Given the description of an element on the screen output the (x, y) to click on. 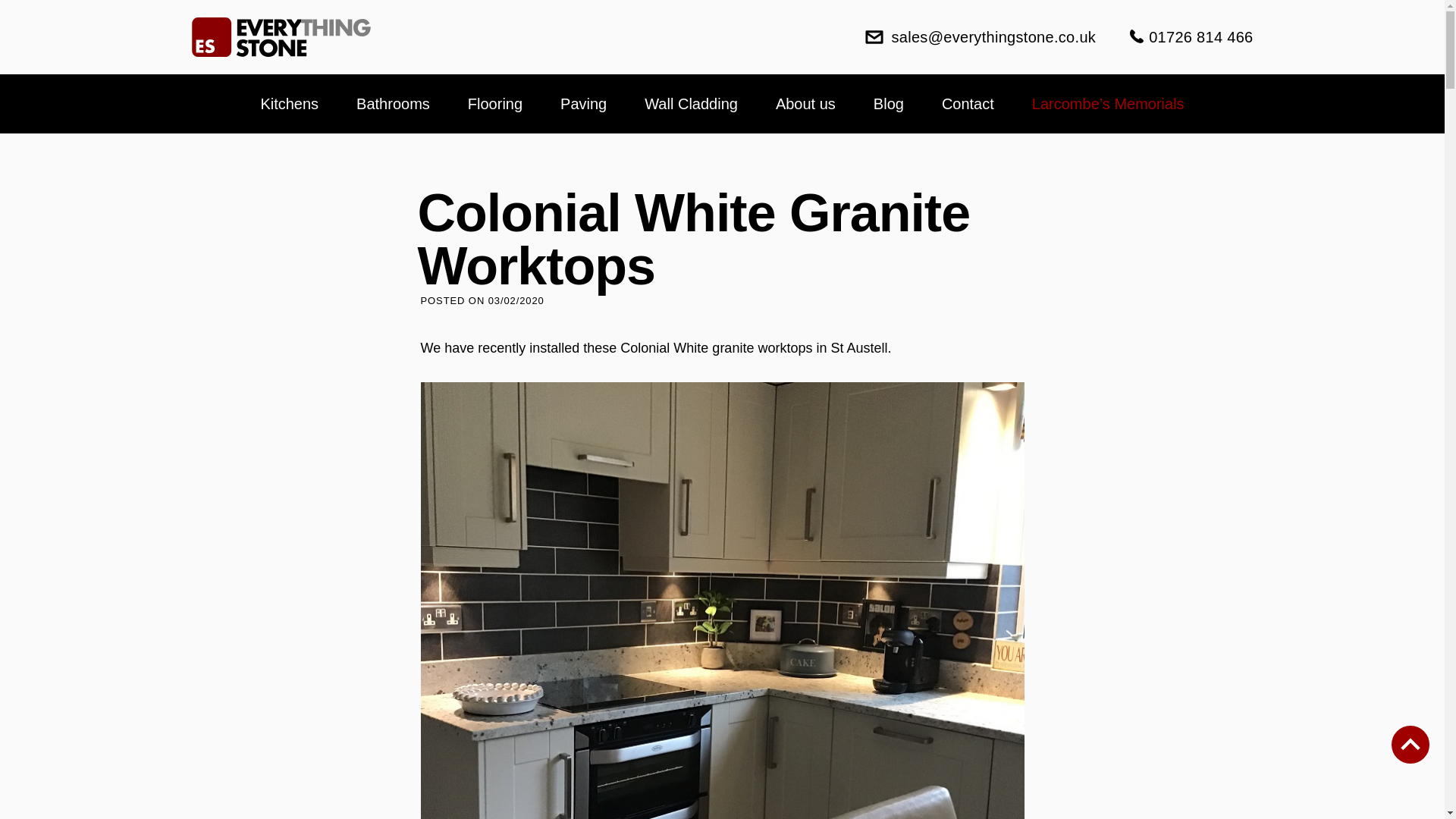
Kitchens (288, 103)
Blog (888, 103)
Flooring (494, 103)
Bathrooms (393, 103)
Top (1410, 744)
Wall Cladding (691, 103)
Paving (583, 103)
01726 814 466 (1191, 37)
About us (805, 103)
Contact (967, 103)
